Given the description of an element on the screen output the (x, y) to click on. 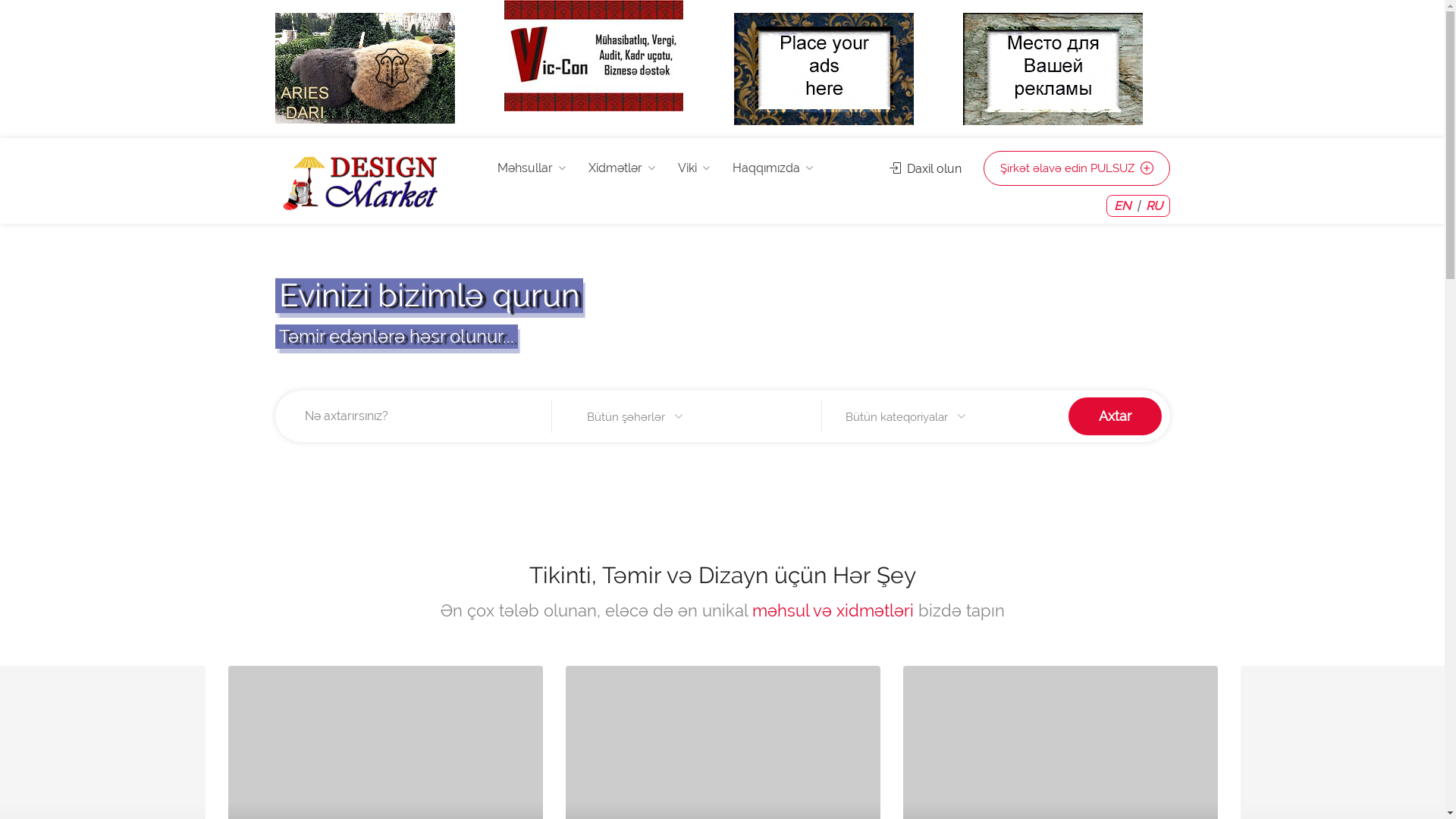
Daxil olun Element type: text (924, 168)
Viki Element type: text (693, 168)
Vic-Con Element type: hover (593, 54)
EN Element type: text (1121, 205)
Vic-Con Element type: hover (593, 55)
RU Element type: text (1153, 205)
Axtar Element type: text (1114, 416)
